Given the description of an element on the screen output the (x, y) to click on. 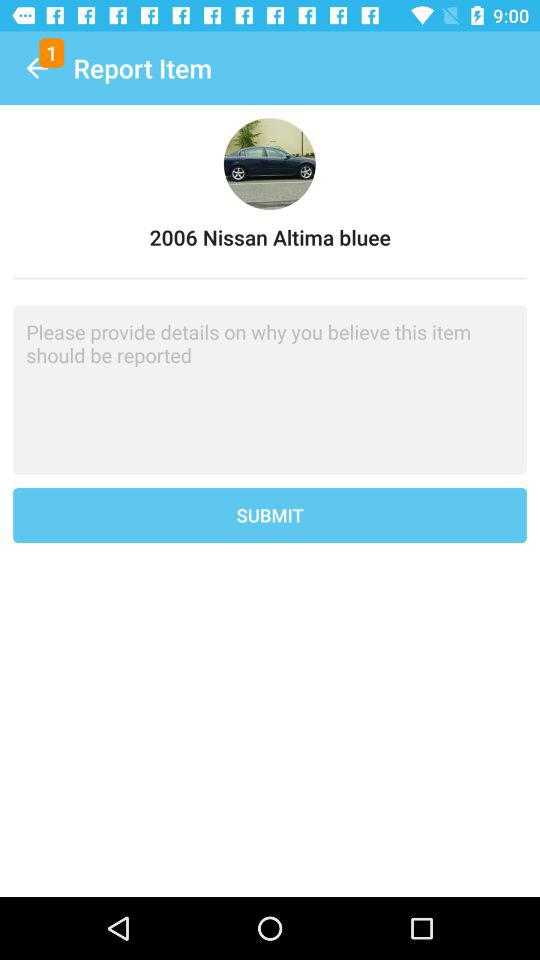
turn on the icon next to report item icon (36, 68)
